Given the description of an element on the screen output the (x, y) to click on. 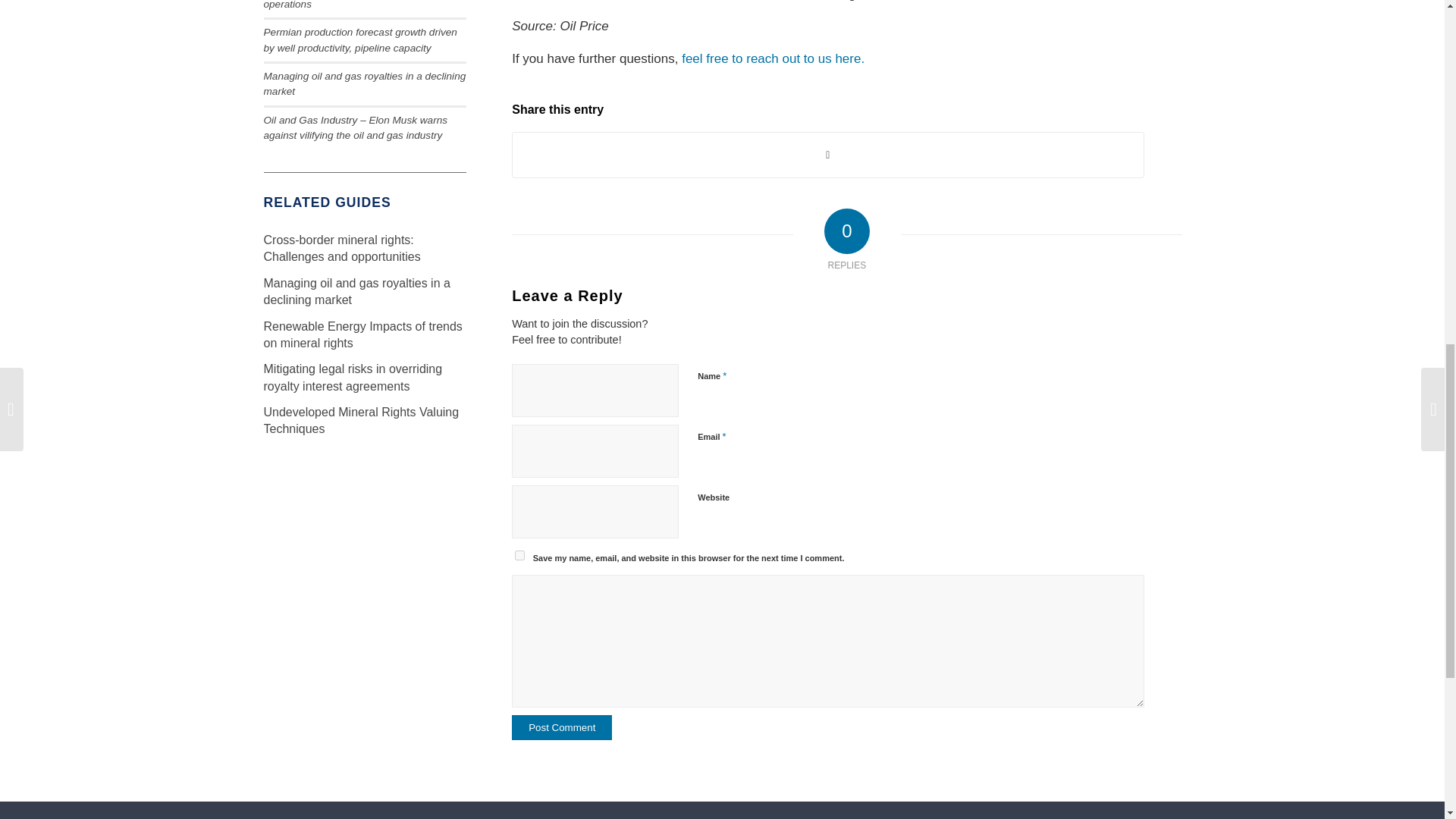
feel free to reach out to us here.  (774, 58)
Post Comment (561, 727)
here to read (577, 0)
yes (519, 555)
Post Comment (561, 727)
Read: Managing oil and gas royalties in a declining market (356, 291)
